Given the description of an element on the screen output the (x, y) to click on. 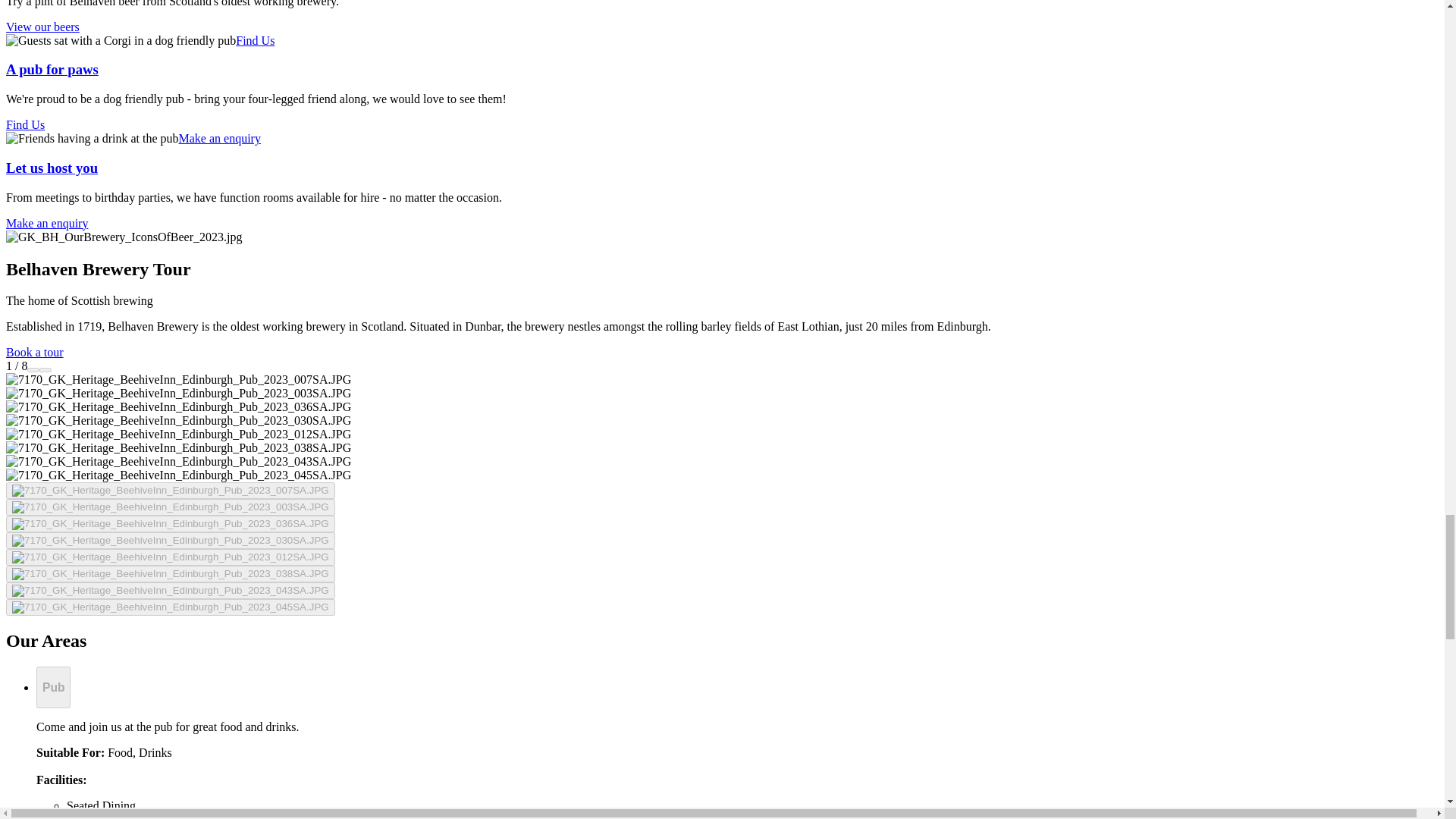
Find Us (25, 124)
Find Us (255, 40)
Book a tour (34, 351)
Make an enquiry (219, 137)
A pub for paws (52, 68)
View our beers (42, 26)
Make an enquiry (46, 223)
Let us host you (51, 167)
